Given the description of an element on the screen output the (x, y) to click on. 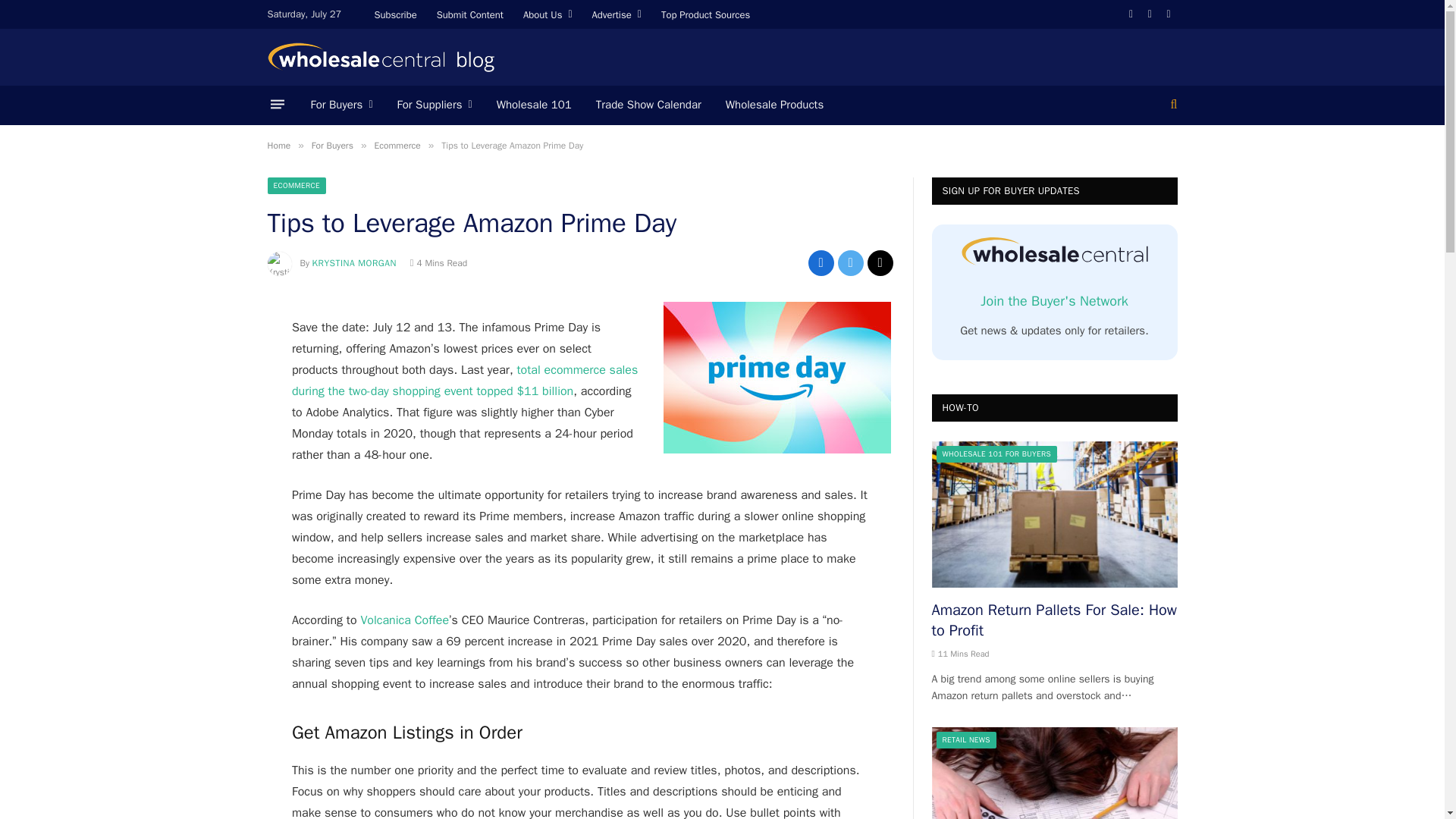
Posts by Krystina Morgan (354, 263)
About Us (547, 14)
Share on Facebook (821, 263)
Subscribe (395, 14)
Advertise (616, 14)
Top Product Sources (705, 14)
WholesaleCentral.com Blog (380, 57)
Submit Content (469, 14)
For Buyers (341, 103)
Share via Email (880, 263)
